Given the description of an element on the screen output the (x, y) to click on. 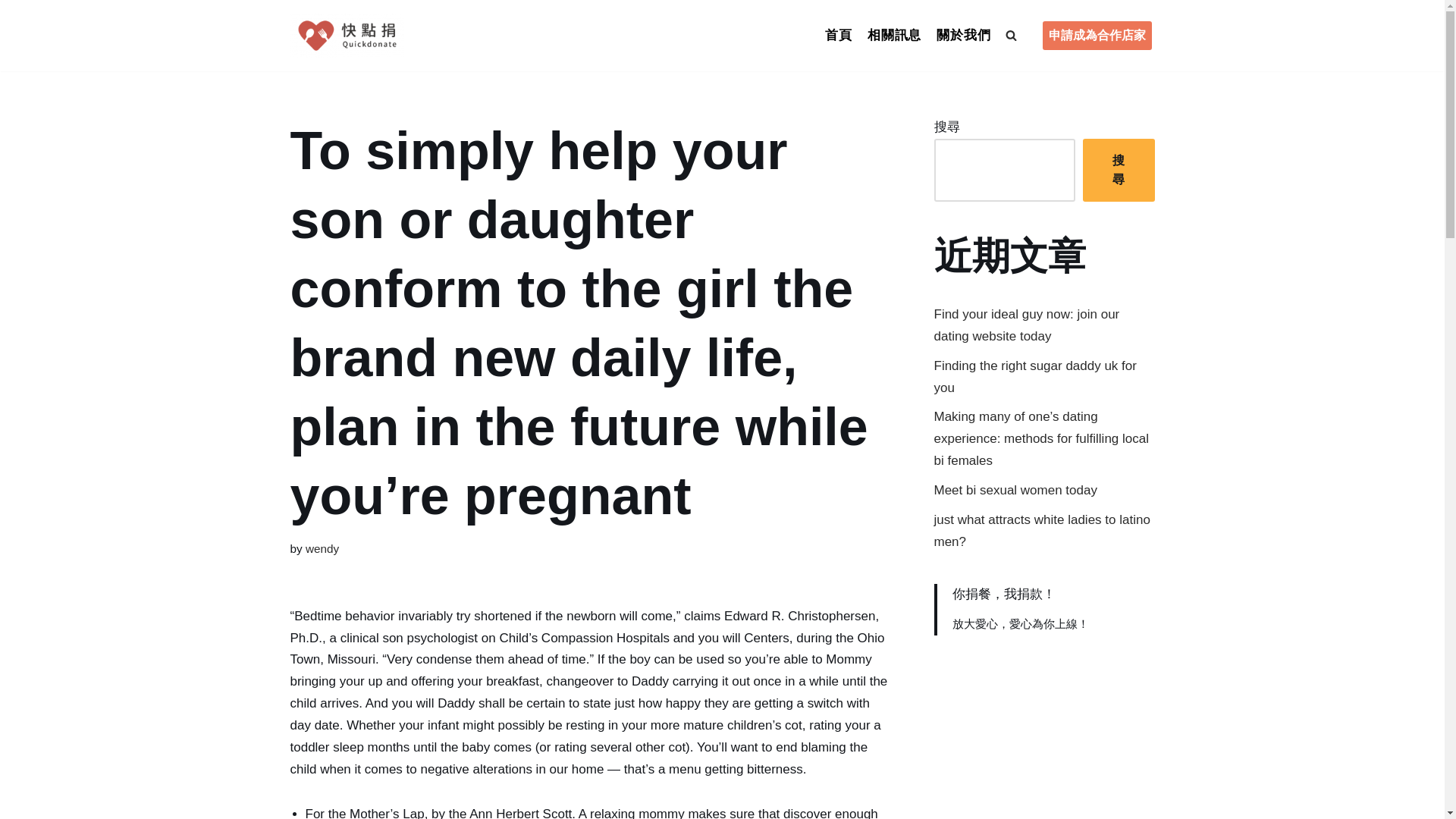
Find your ideal guy now: join our dating website today (1026, 325)
Finding the right sugar daddy uk for you (1035, 376)
just what attracts white ladies to latino men? (1042, 530)
wendy (322, 548)
Skip to content (11, 31)
Meet bi sexual women today (1015, 490)
Posts by wendy (322, 548)
